Given the description of an element on the screen output the (x, y) to click on. 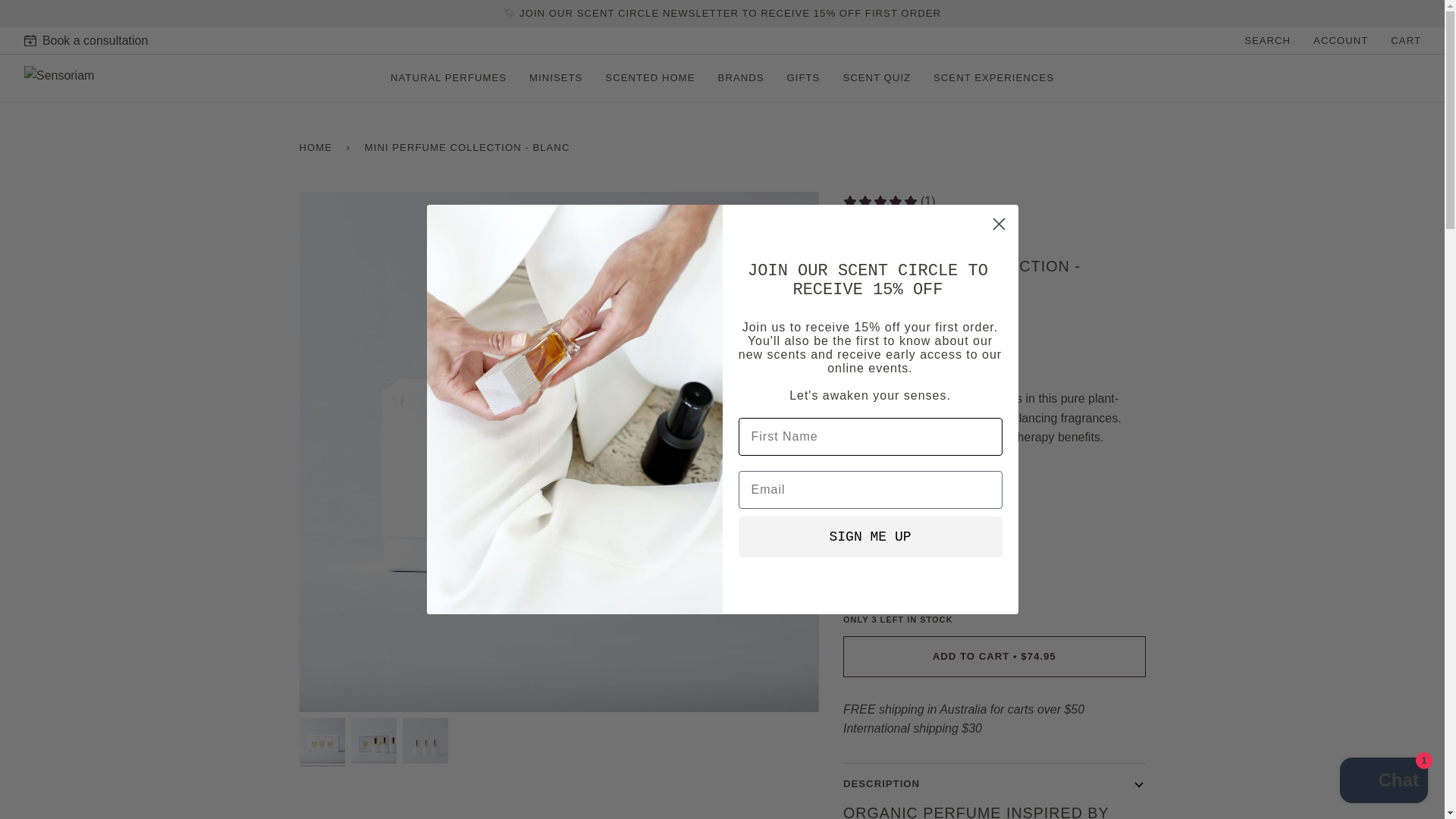
Shopify online store chat (1383, 781)
Book a consultation (628, 40)
CART (1405, 40)
Back to the frontpage (317, 146)
NATURAL PERFUMES (448, 77)
ACCOUNT (1339, 40)
1 (882, 574)
